Given the description of an element on the screen output the (x, y) to click on. 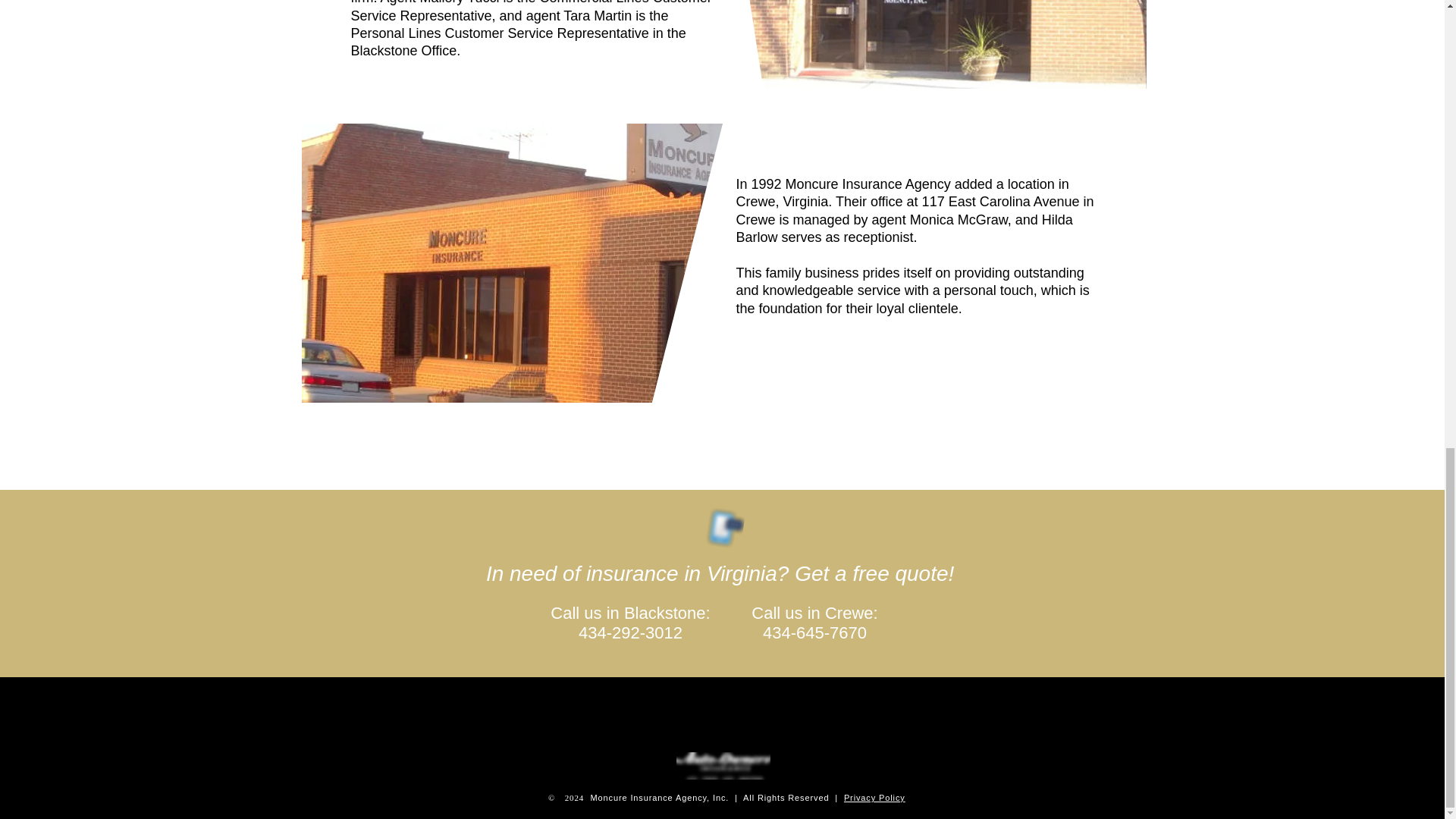
Privacy Policy (874, 797)
